Given the description of an element on the screen output the (x, y) to click on. 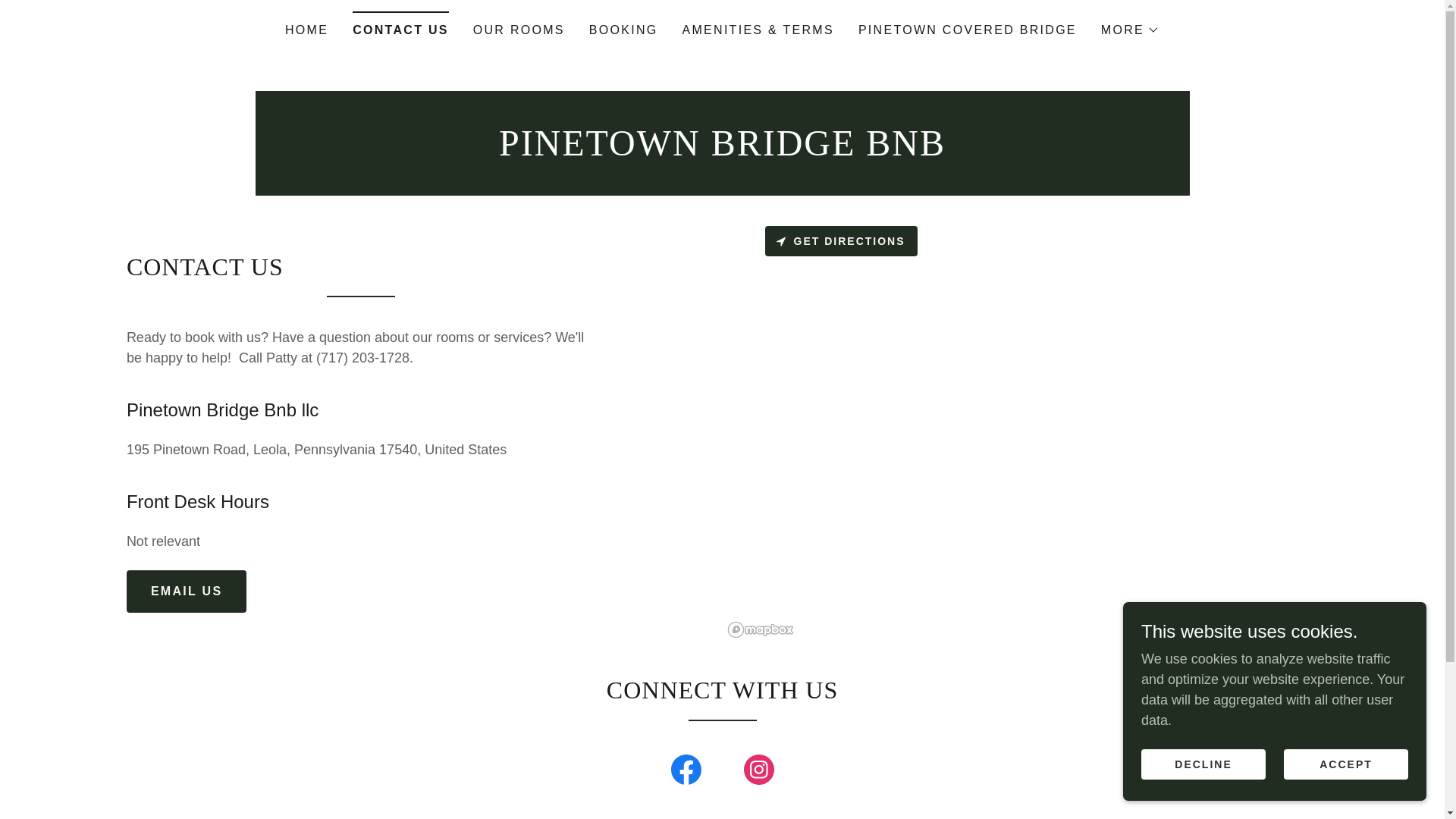
MORE (1129, 30)
ACCEPT (1345, 764)
EMAIL US (186, 591)
HOME (307, 30)
GET DIRECTIONS (840, 241)
OUR ROOMS (518, 30)
BOOKING (623, 30)
PINETOWN COVERED BRIDGE (967, 30)
PINETOWN BRIDGE BNB (721, 150)
DECLINE (1203, 764)
